Given the description of an element on the screen output the (x, y) to click on. 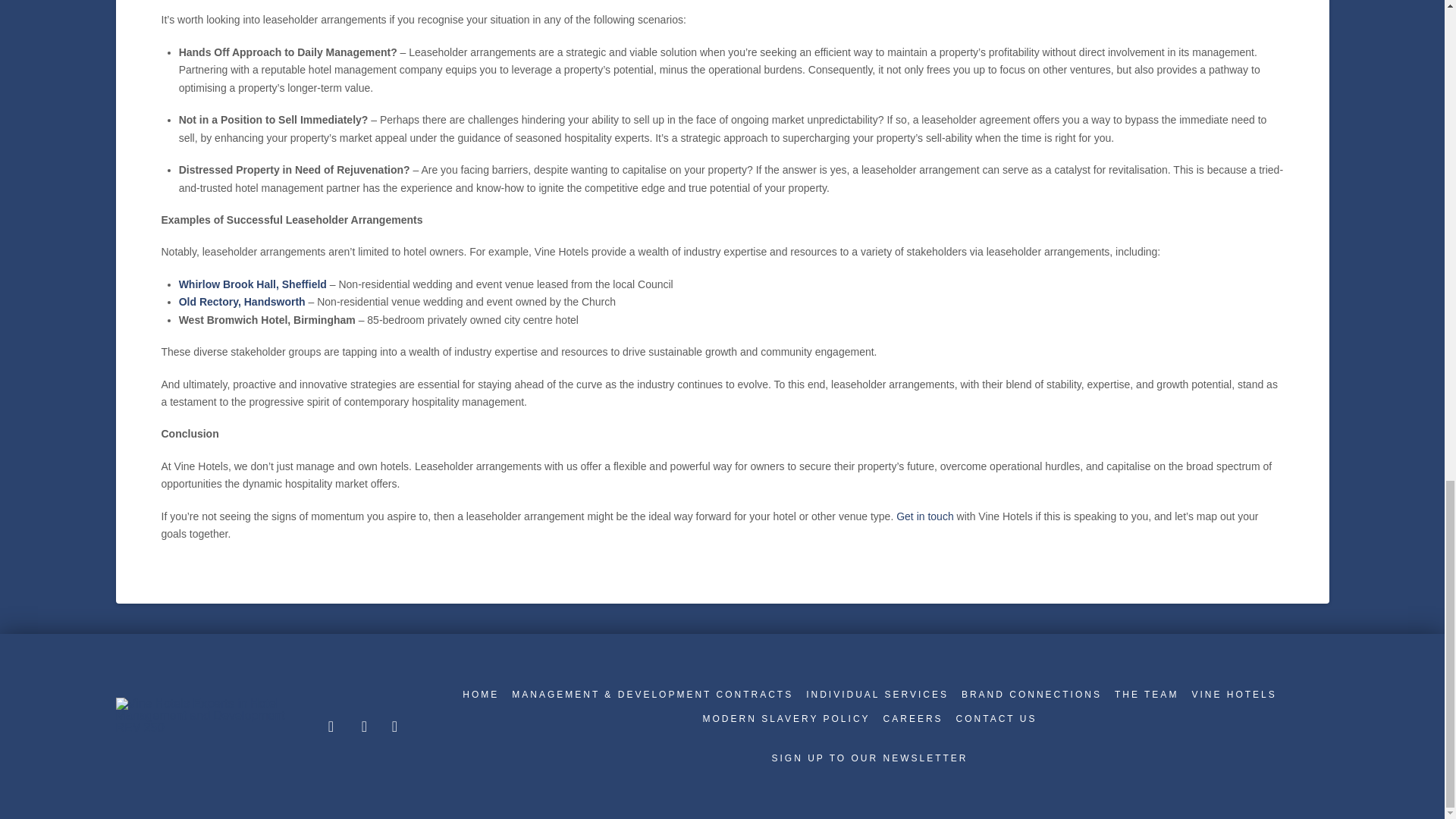
Old Rectory, Handsworth (242, 301)
HOME (478, 694)
VINE HOTELS (1232, 694)
INDIVIDUAL SERVICES (875, 694)
Whirlow Brook Hall, Sheffield (252, 284)
Get in touch (924, 516)
BRAND CONNECTIONS (1029, 694)
CAREERS (912, 718)
THE TEAM (1144, 694)
SIGN UP TO OUR NEWSLETTER (867, 758)
